Given the description of an element on the screen output the (x, y) to click on. 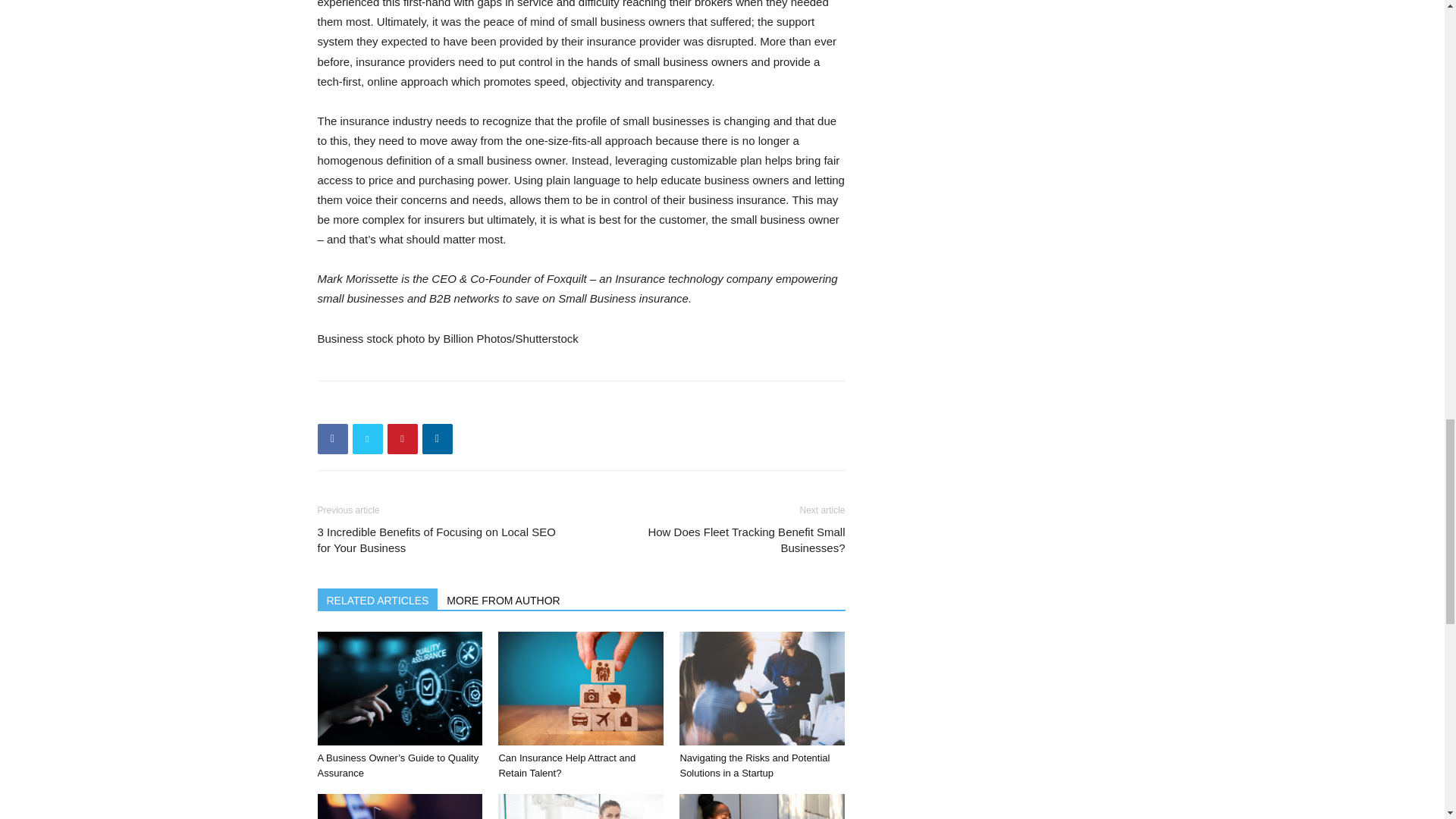
Navigating the Risks and Potential Solutions in a Startup (754, 765)
Can Insurance Help Attract and Retain Talent? (565, 765)
Can Insurance Help Attract and Retain Talent? (580, 688)
Navigating the Risks and Potential Solutions in a Startup (761, 688)
Entrepreneur: Grow Now, Not Later (580, 806)
